Given the description of an element on the screen output the (x, y) to click on. 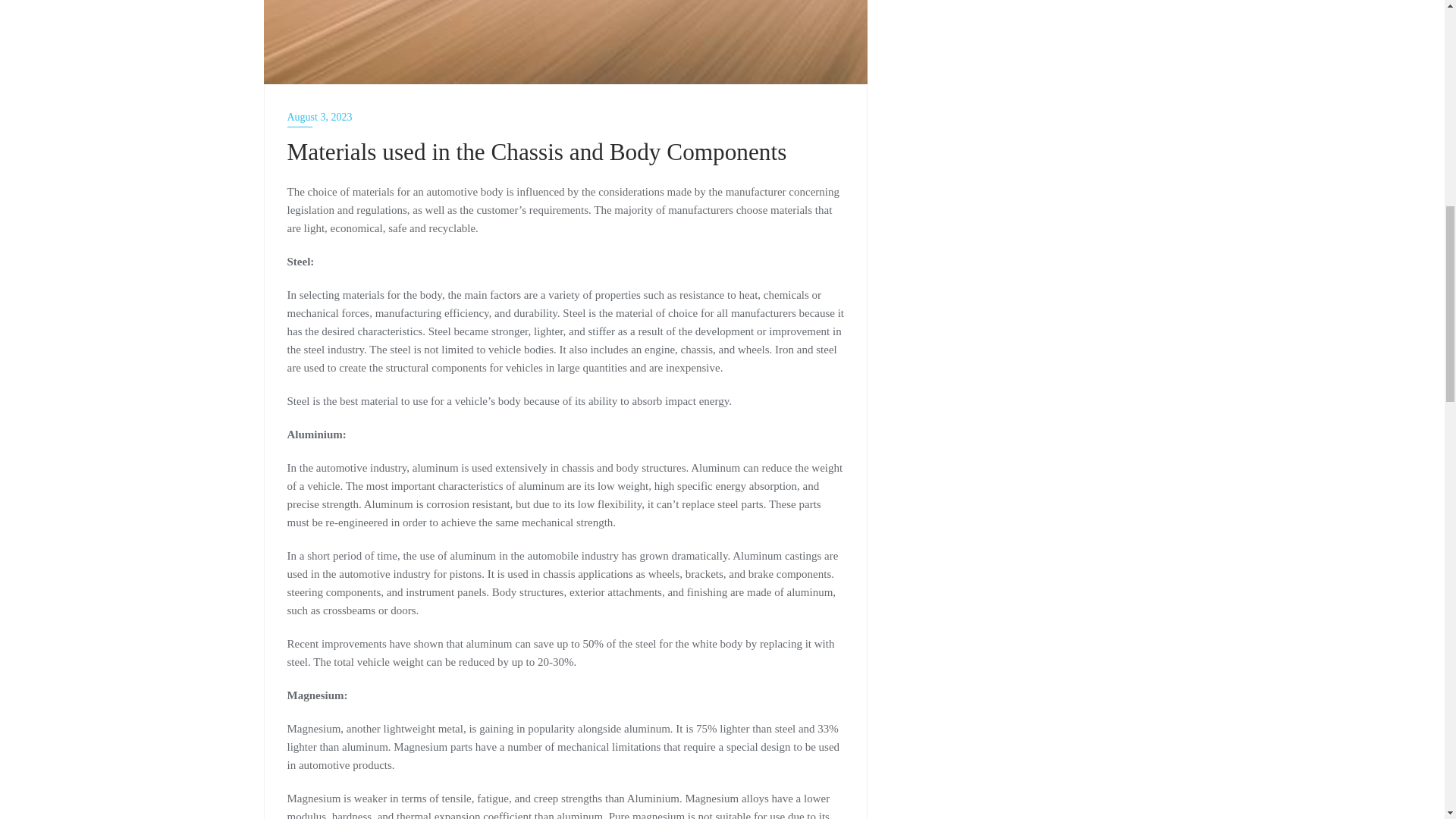
Materials used in the Chassis and Body Components (565, 42)
August 3, 2023 (565, 116)
